Given the description of an element on the screen output the (x, y) to click on. 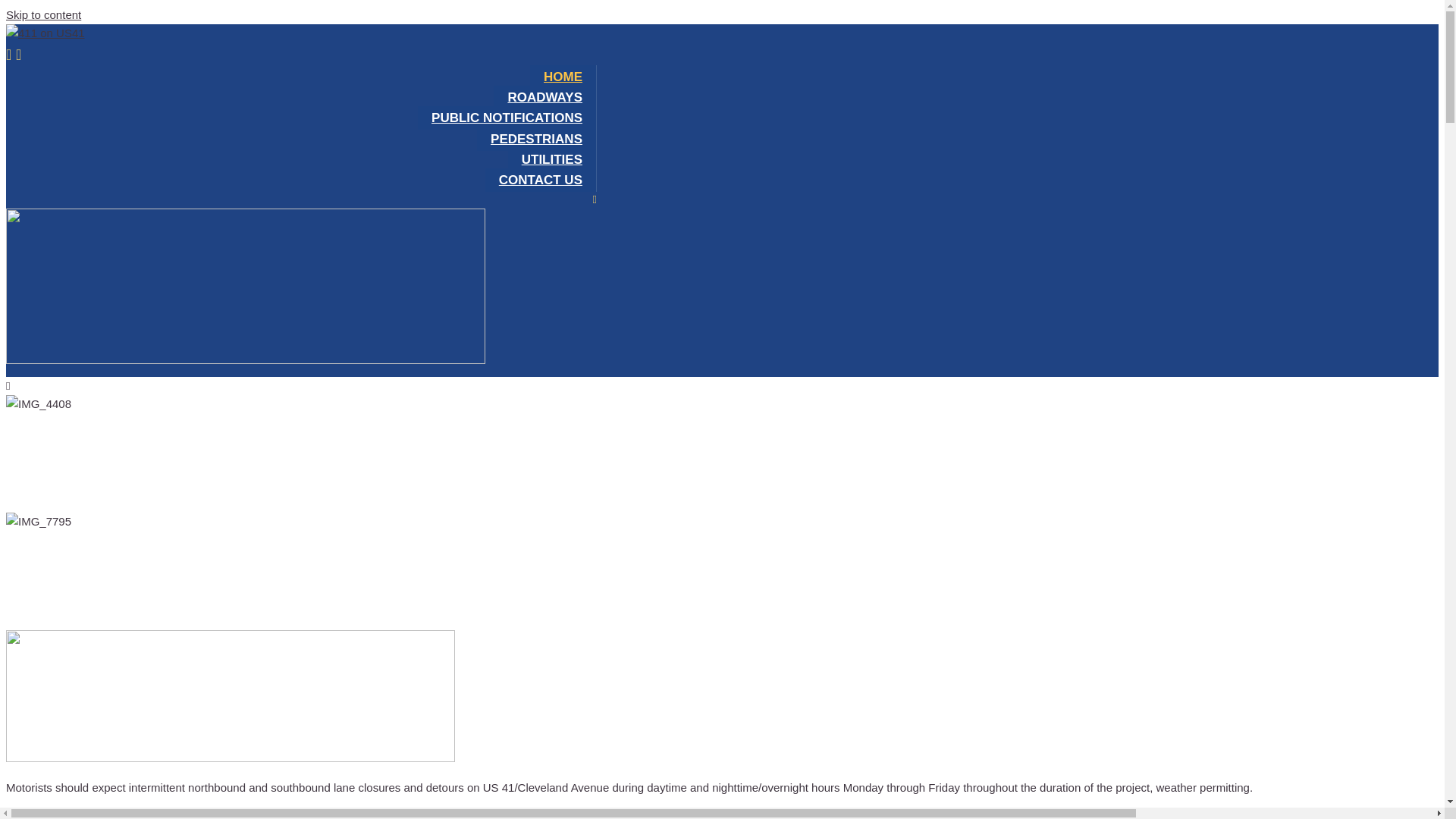
ROADWAYS Element type: text (544, 97)
Skip to content Element type: text (43, 14)
HOME Element type: text (563, 76)
CONTACT US Element type: text (540, 179)
PEDESTRIANS Element type: text (536, 138)
PUBLIC NOTIFICATIONS Element type: text (506, 117)
UTILITIES Element type: text (552, 159)
